Given the description of an element on the screen output the (x, y) to click on. 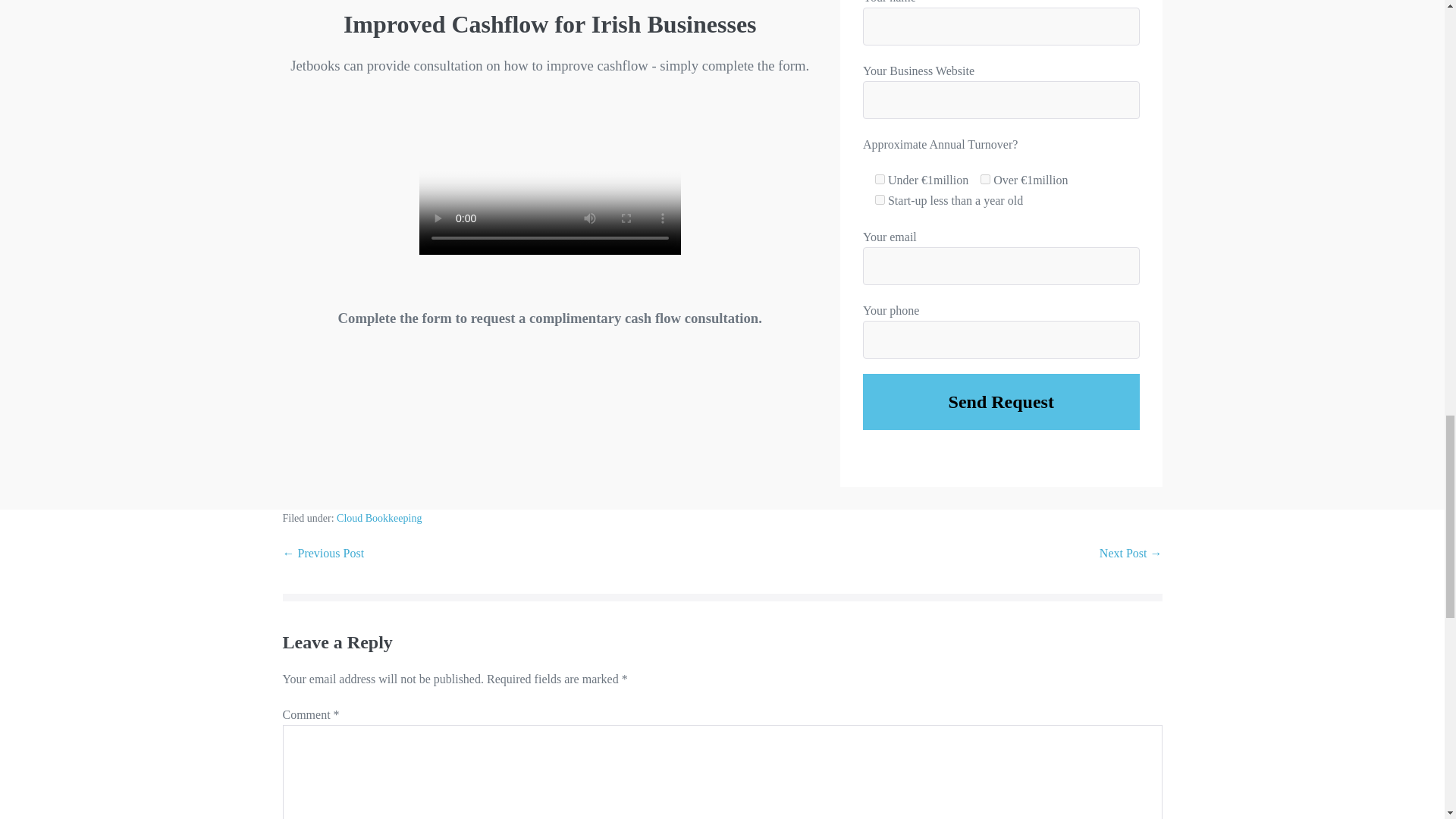
Send Request (1001, 401)
Cloud Bookkeeping (379, 518)
Send Request (1001, 401)
Start-up less than a year old (880, 199)
